Given the description of an element on the screen output the (x, y) to click on. 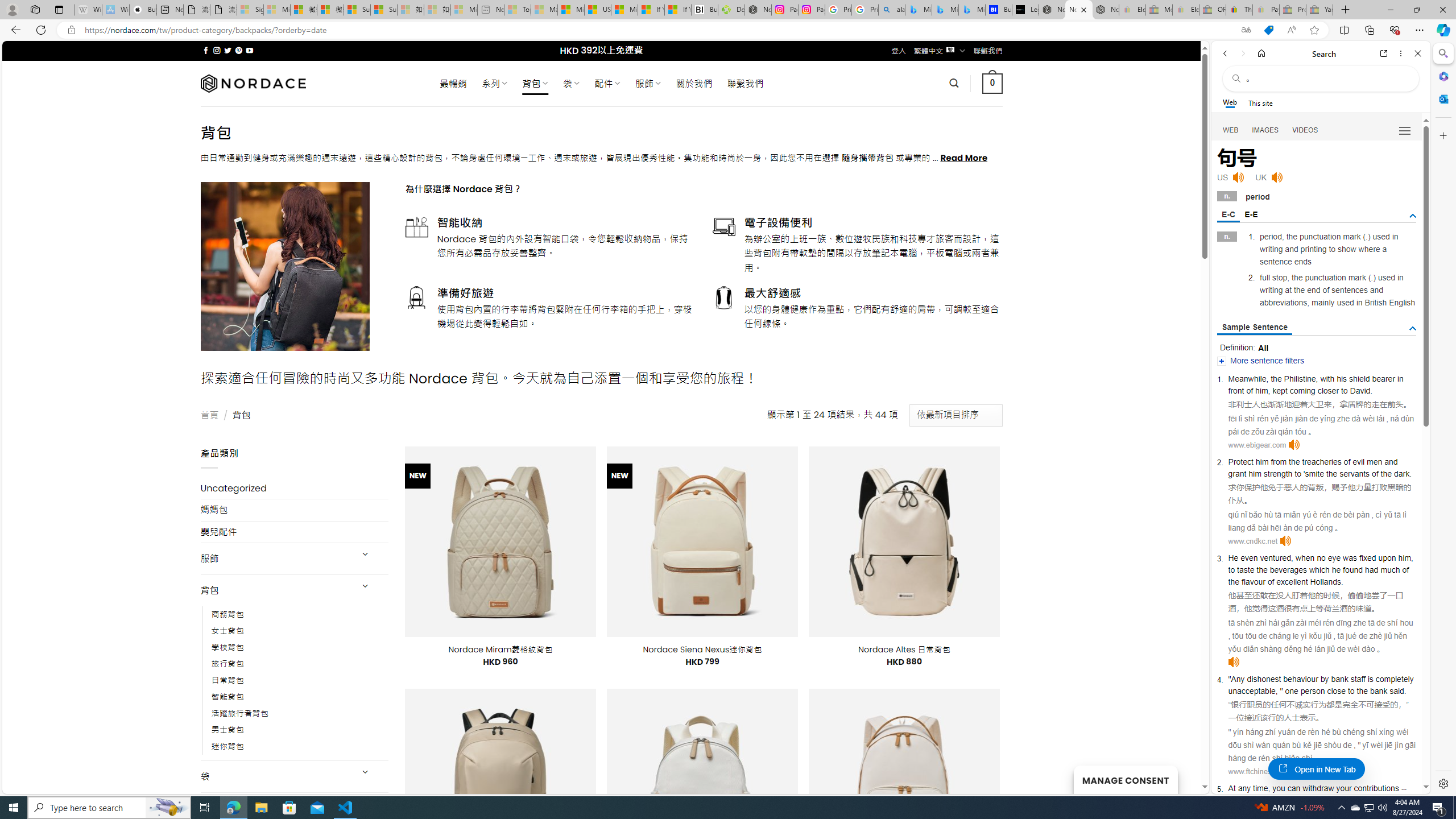
  0   (992, 83)
E-E (1251, 214)
, (1269, 787)
shield (1359, 378)
MANAGE CONSENT (1125, 779)
Click to listen (1299, 771)
dark (1401, 473)
in (1399, 378)
